Given the description of an element on the screen output the (x, y) to click on. 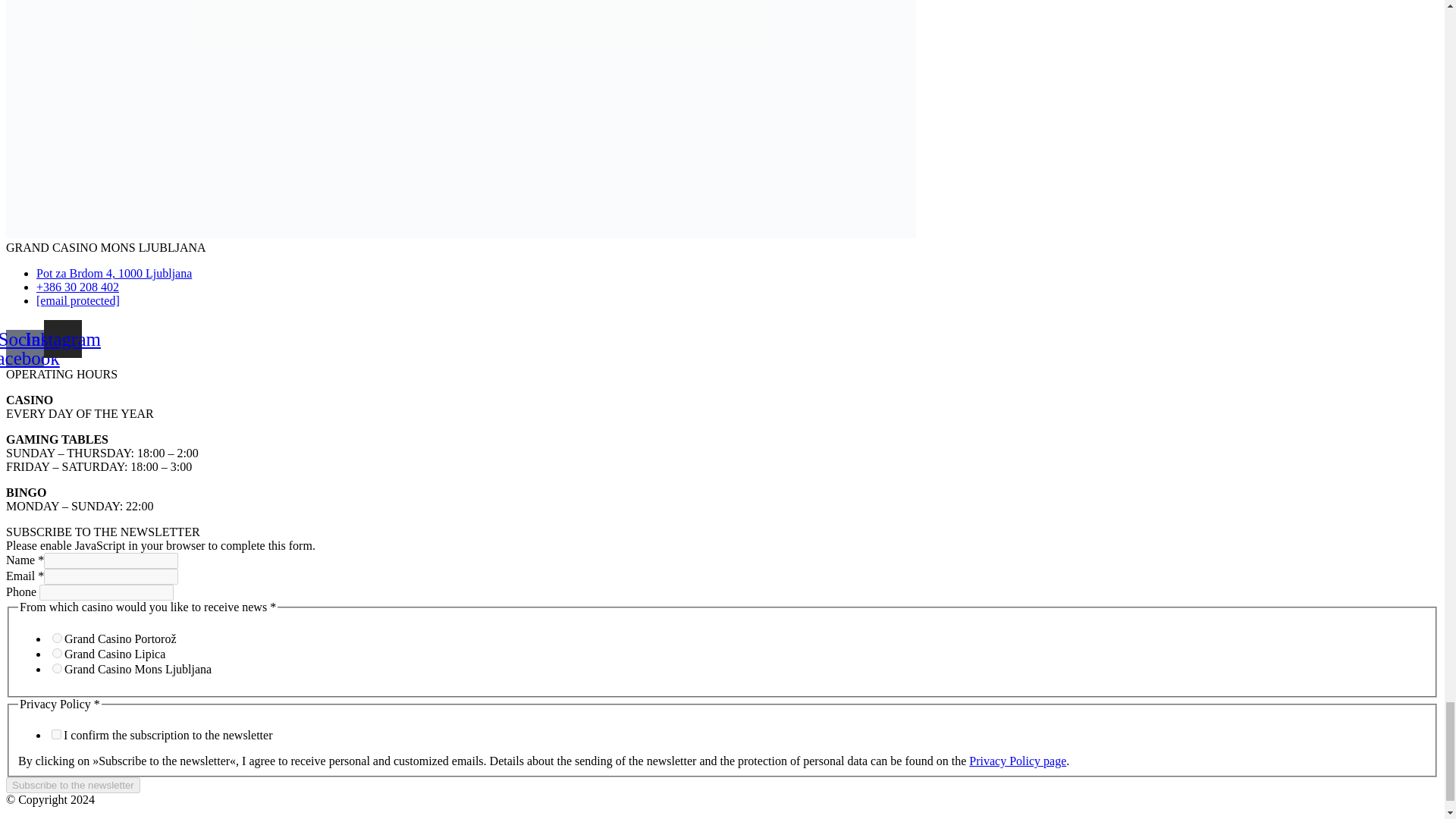
Grand Casino Mons Ljubljana (57, 667)
Grand Casino Lipica (57, 652)
I confirm the subscription to the newsletter (55, 734)
